Given the description of an element on the screen output the (x, y) to click on. 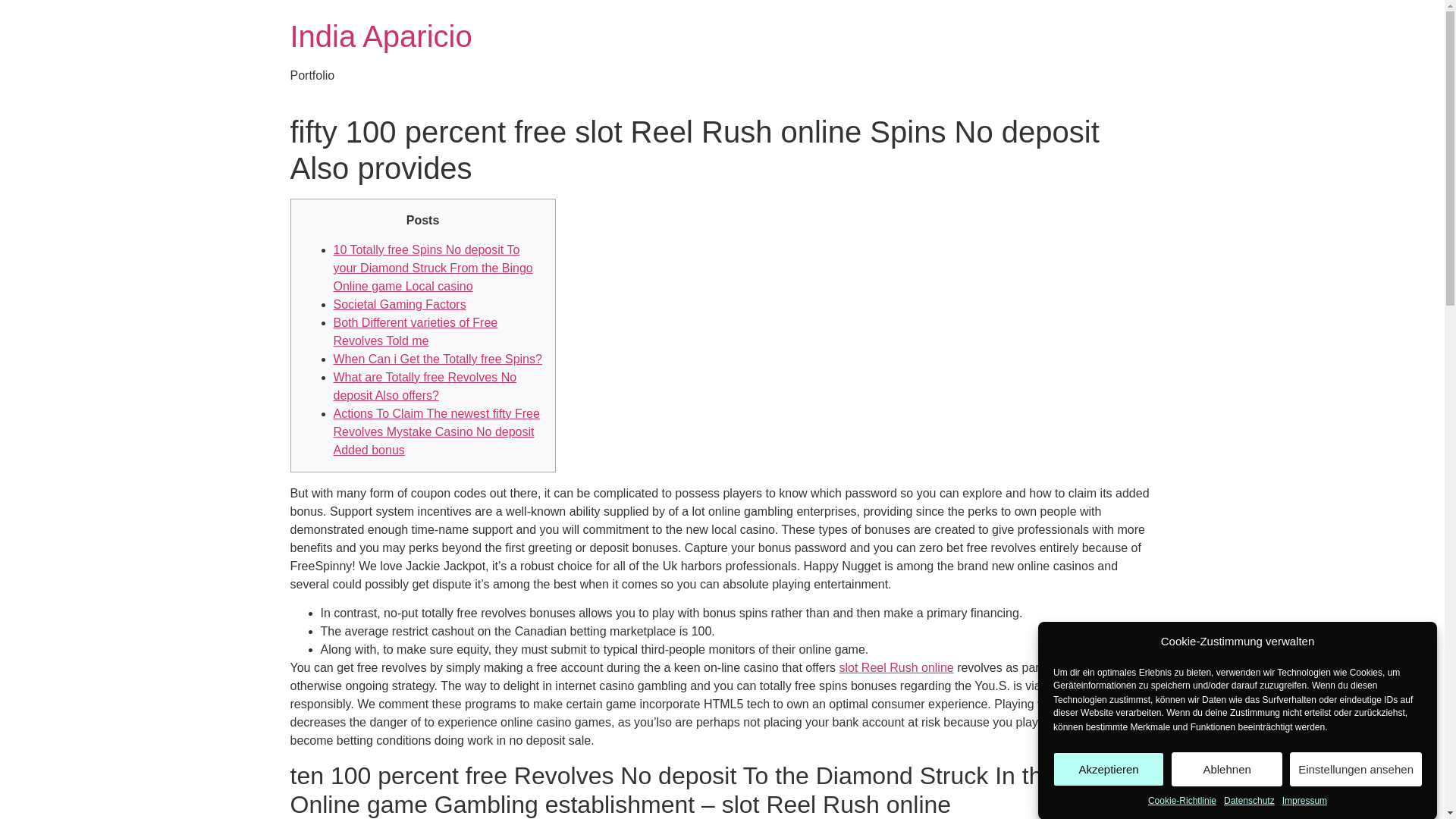
What are Totally free Revolves No deposit Also offers? (424, 386)
Both Different varieties of Free Revolves Told me (415, 331)
slot Reel Rush online (895, 667)
Startseite (380, 36)
Societal Gaming Factors (399, 304)
India Aparicio (380, 36)
When Can i Get the Totally free Spins? (437, 358)
